Given the description of an element on the screen output the (x, y) to click on. 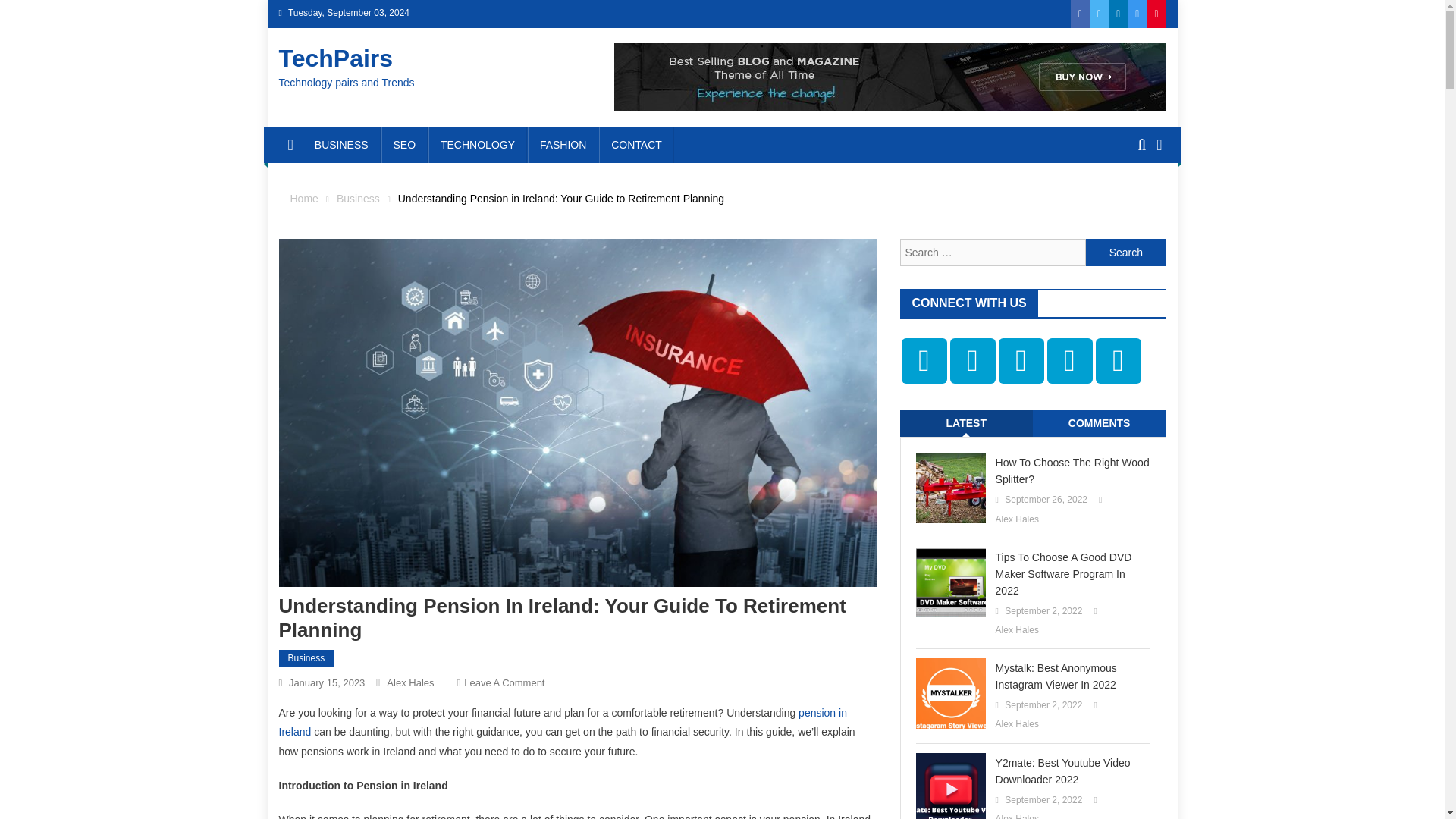
Social Media Icons (1069, 361)
Search (1133, 199)
Business (358, 198)
Social Media Icons (971, 361)
Search (1126, 252)
January 15, 2023 (326, 682)
Alex Hales (410, 682)
TechPairs (336, 58)
Business (306, 659)
TECHNOLOGY (477, 144)
